Given the description of an element on the screen output the (x, y) to click on. 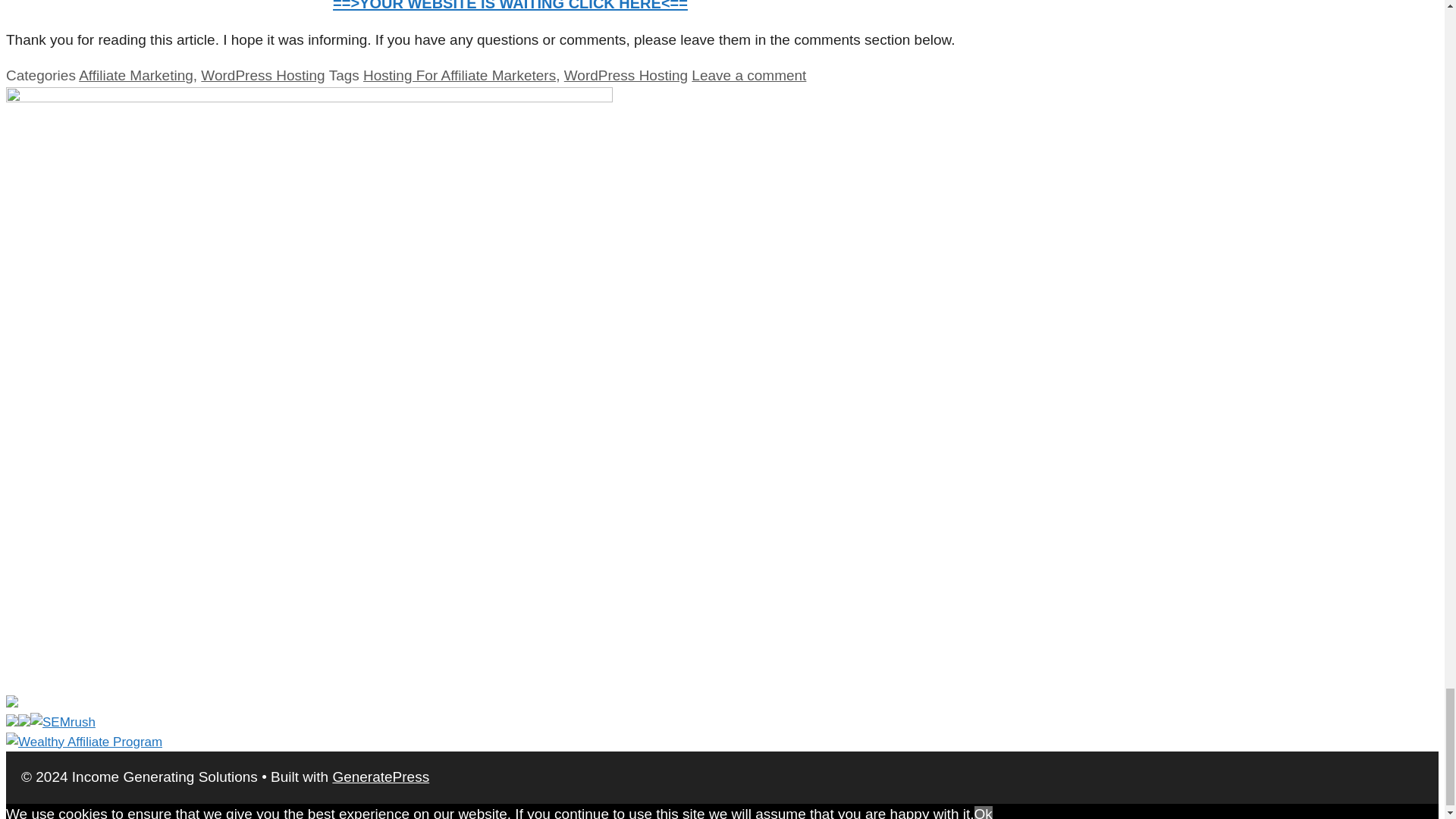
SEMrush (50, 721)
WordPress Hosting (625, 75)
Hosting For Affiliate Marketers (459, 75)
WordPress Hosting (262, 75)
GeneratePress (380, 776)
Leave a comment (748, 75)
Affiliate Marketing (135, 75)
